Given the description of an element on the screen output the (x, y) to click on. 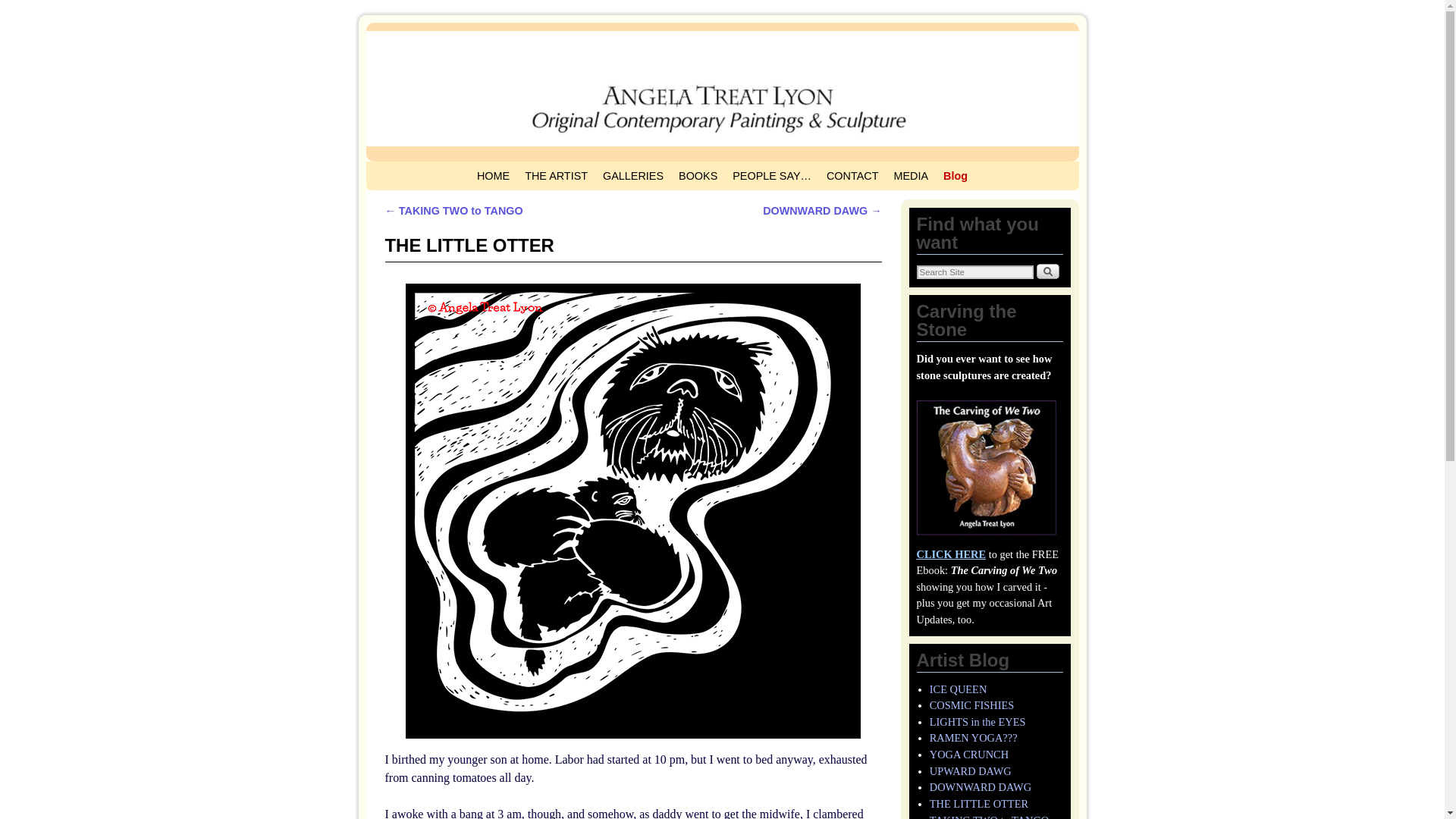
GALLERIES (633, 175)
Skip to secondary content (412, 168)
Skip to primary content (408, 168)
HOME (492, 175)
THE ARTIST (555, 175)
